Given the description of an element on the screen output the (x, y) to click on. 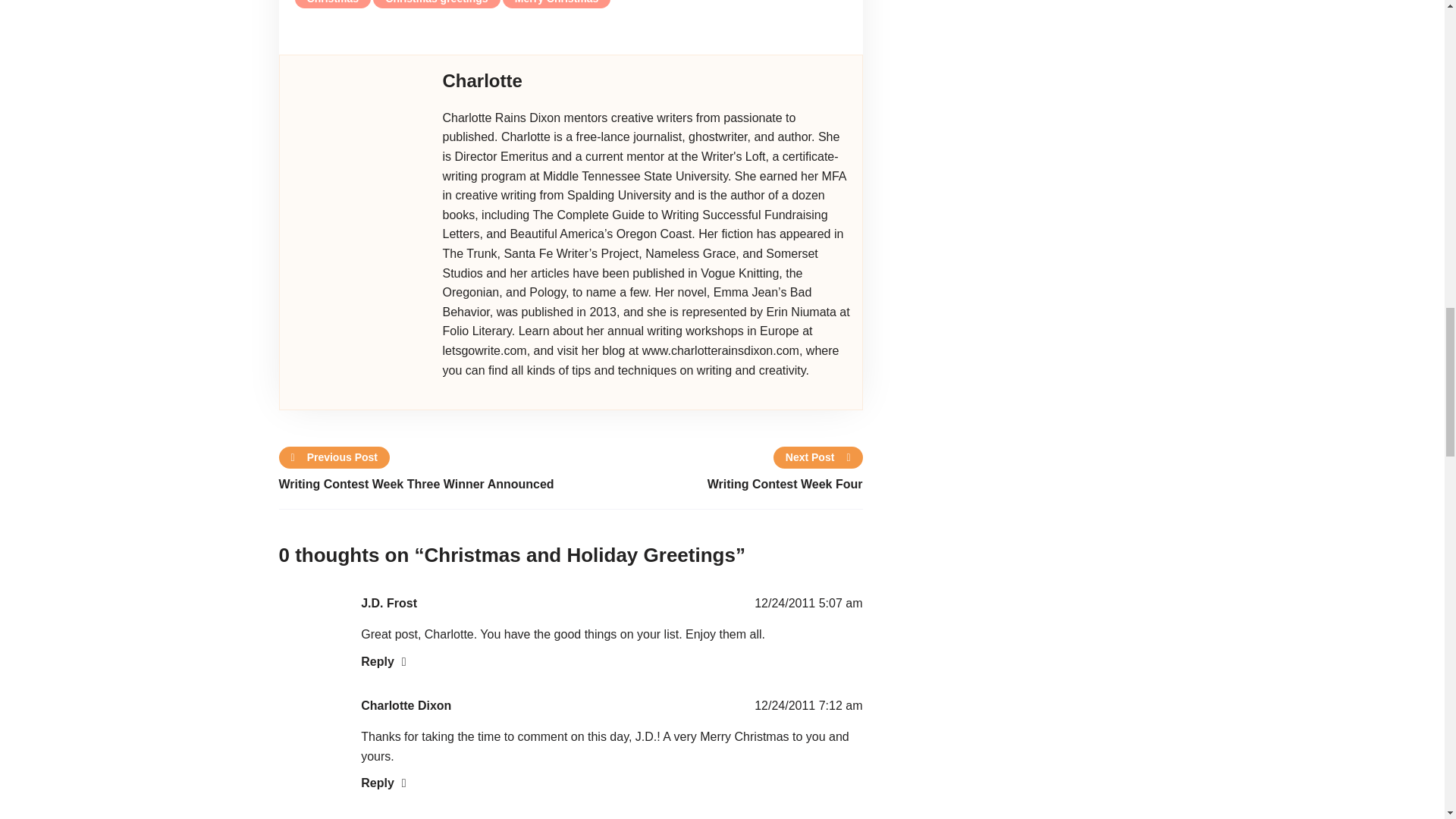
Writing Contest Week Four (715, 484)
Reply (383, 782)
Charlotte Dixon (406, 705)
Christmas (333, 4)
Christmas greetings (435, 4)
Writing Contest Week Three Winner Announced (424, 484)
Reply (383, 661)
J.D. Frost (388, 603)
Merry Christmas (556, 4)
